Given the description of an element on the screen output the (x, y) to click on. 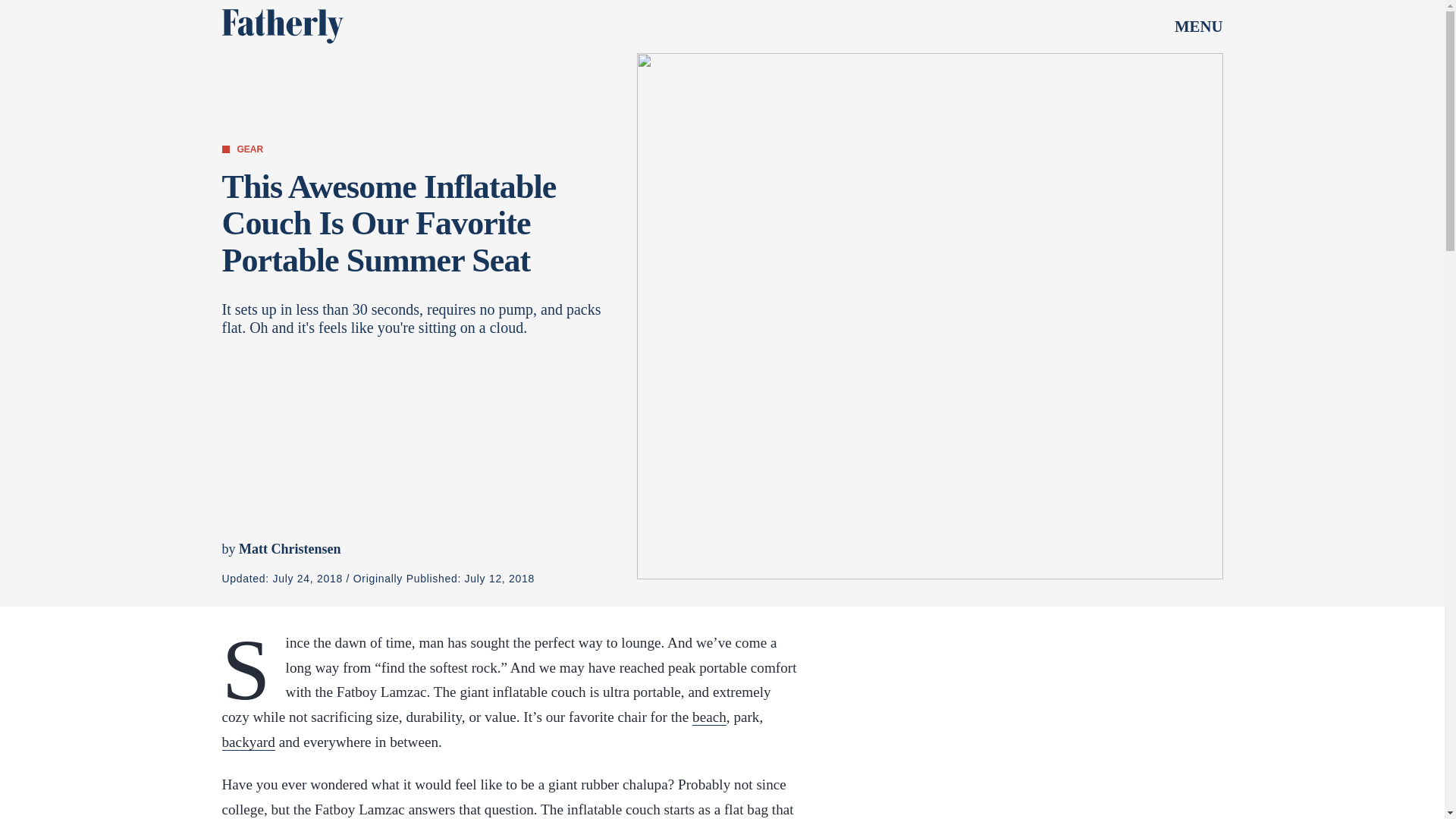
Fatherly (281, 26)
Matt Christensen (289, 548)
beach (709, 717)
backyard (248, 742)
